Given the description of an element on the screen output the (x, y) to click on. 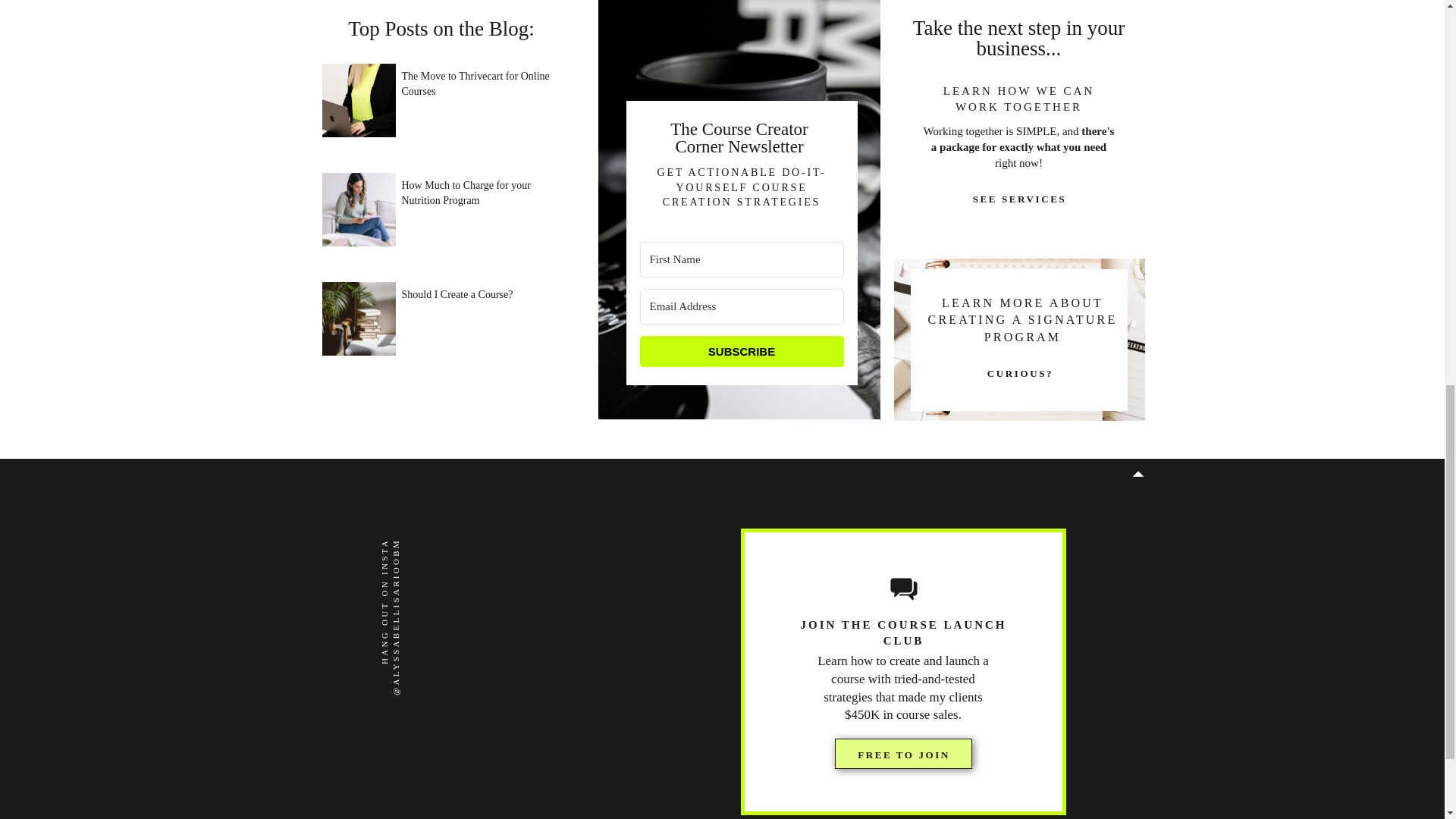
CURIOUS? (1019, 375)
BACK TO TOP (1082, 473)
How Much to Charge for your Nutrition Program (481, 209)
Should I Create a Course? (481, 318)
SEE SERVICES (1018, 198)
LEARN MORE ABOUT CREATING A SIGNATURE PROGRAM (1022, 321)
SUBSCRIBE (742, 350)
The Move to Thrivecart for Online Courses (481, 99)
